Given the description of an element on the screen output the (x, y) to click on. 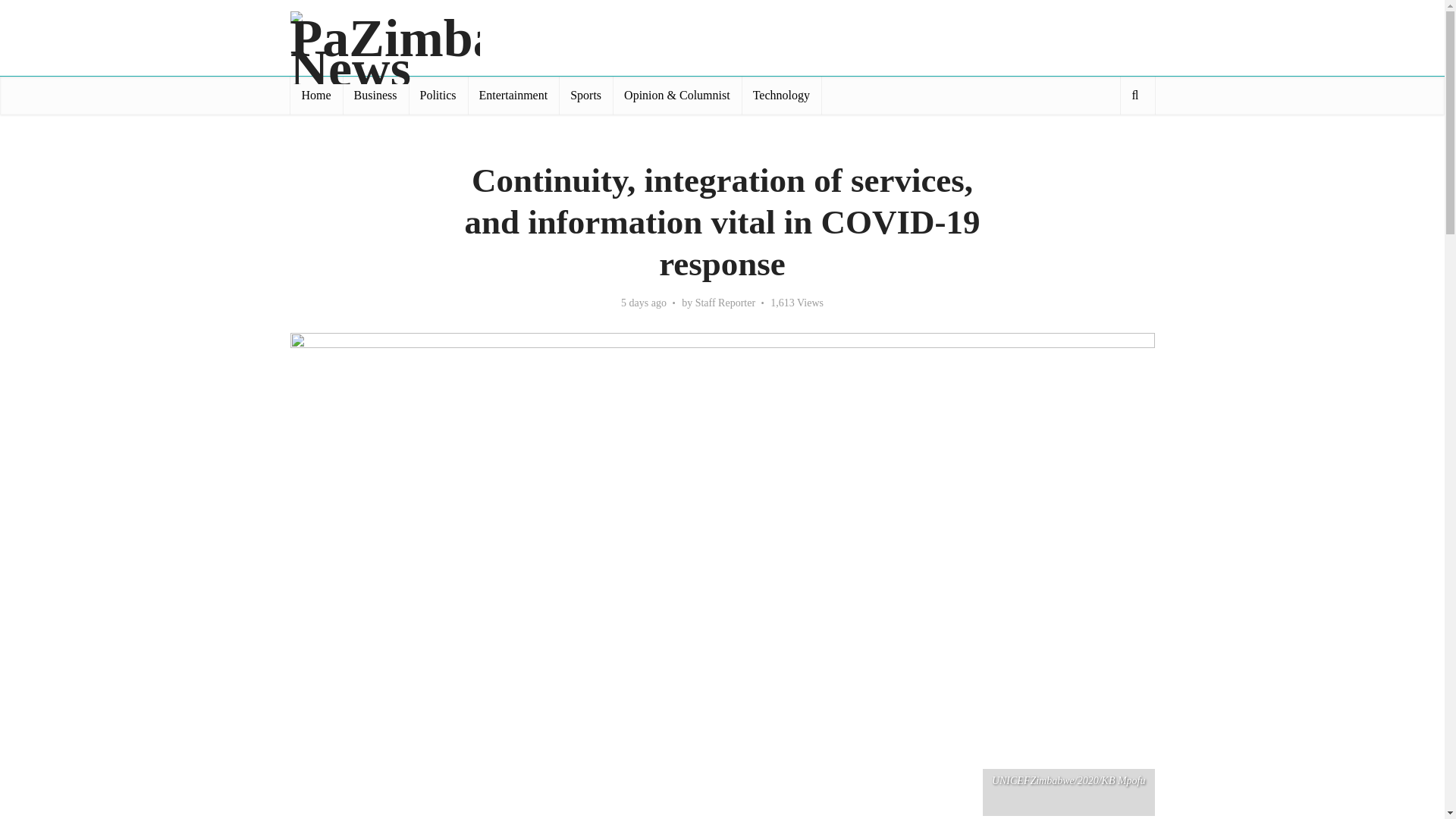
Sports (585, 95)
Technology (781, 95)
Politics (438, 95)
Staff Reporter (725, 303)
Home (315, 95)
Entertainment (513, 95)
Business (375, 95)
